Given the description of an element on the screen output the (x, y) to click on. 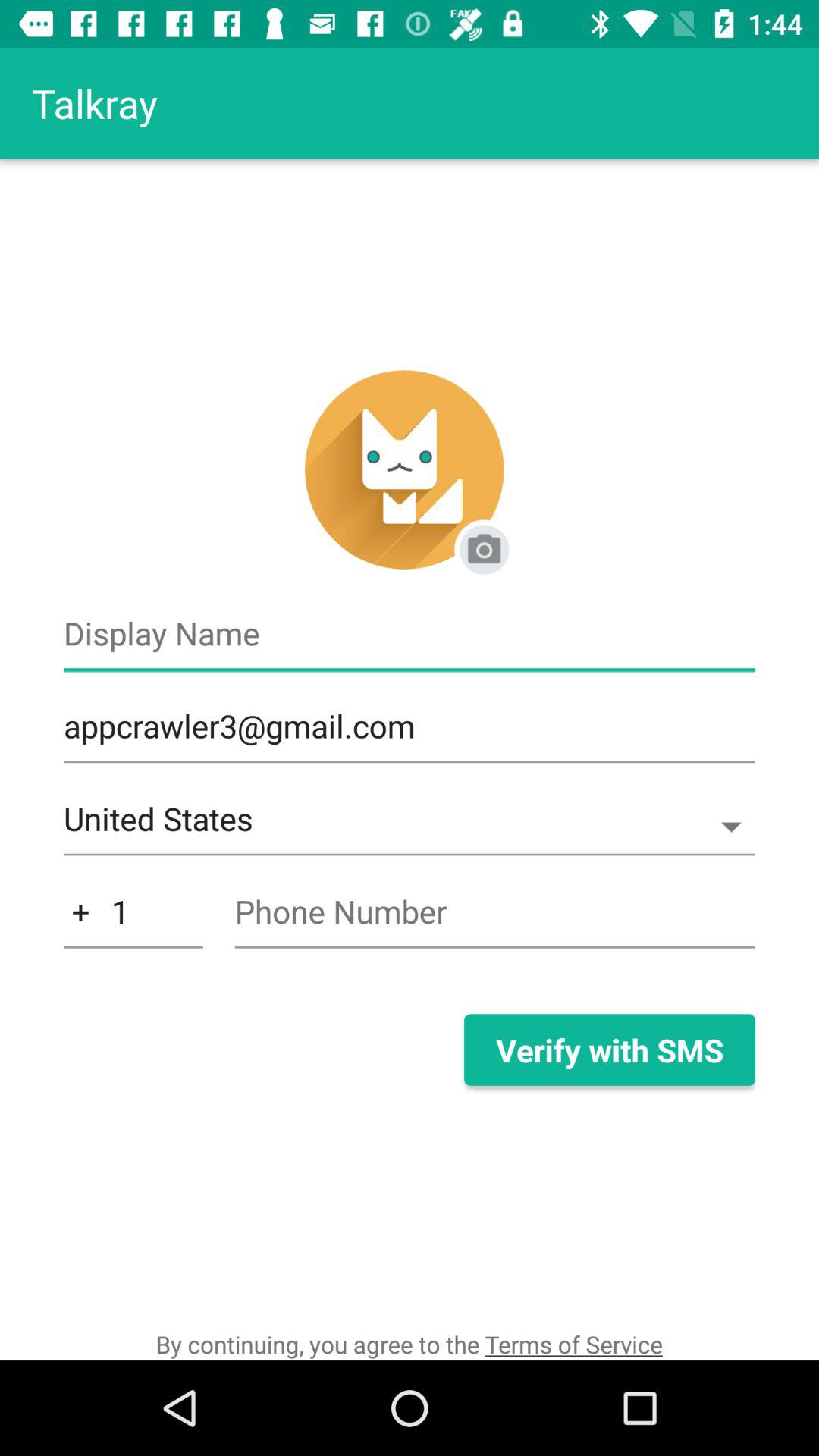
swipe to verify with sms icon (609, 1049)
